Given the description of an element on the screen output the (x, y) to click on. 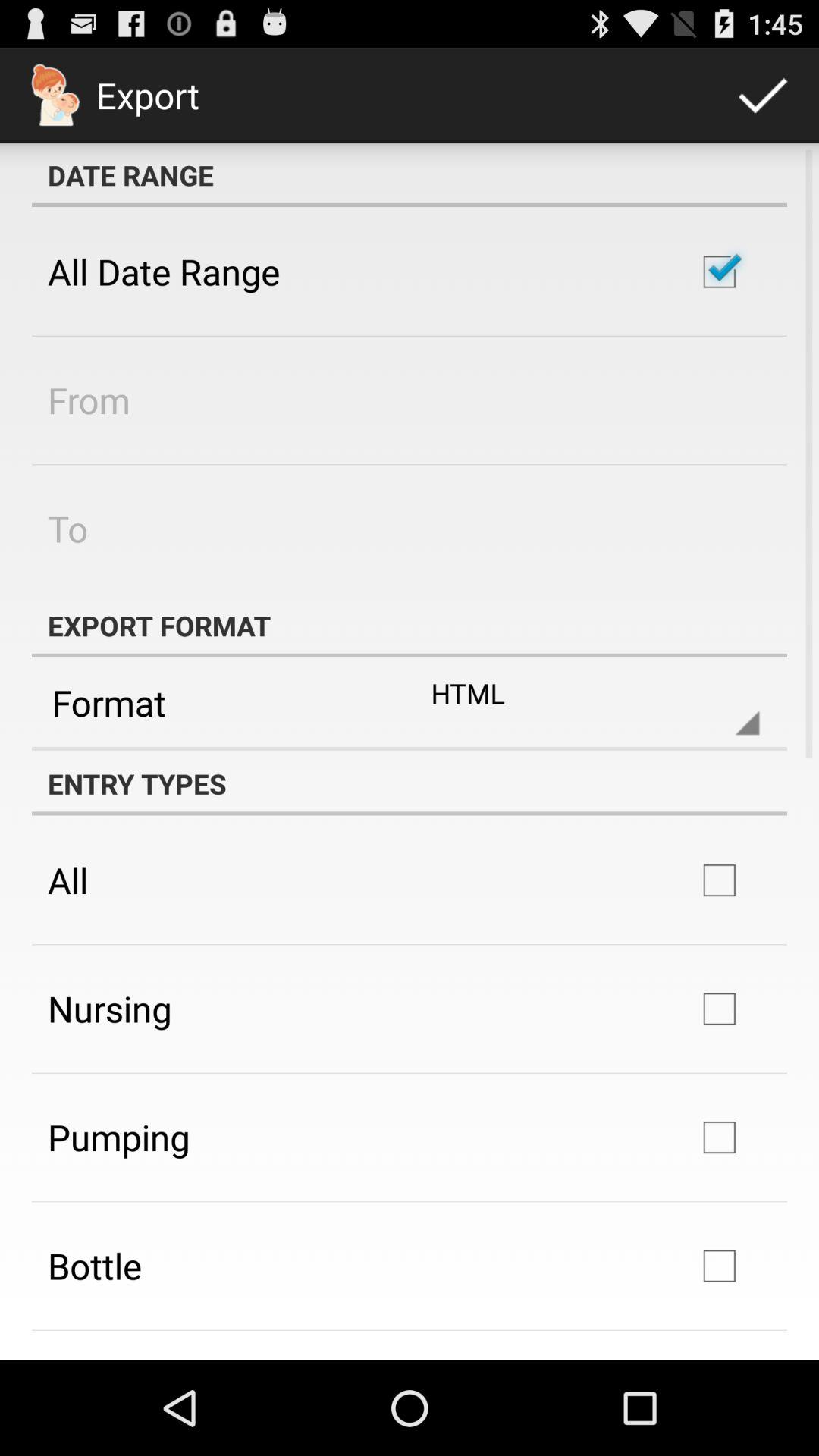
scroll to the entry types item (409, 783)
